Given the description of an element on the screen output the (x, y) to click on. 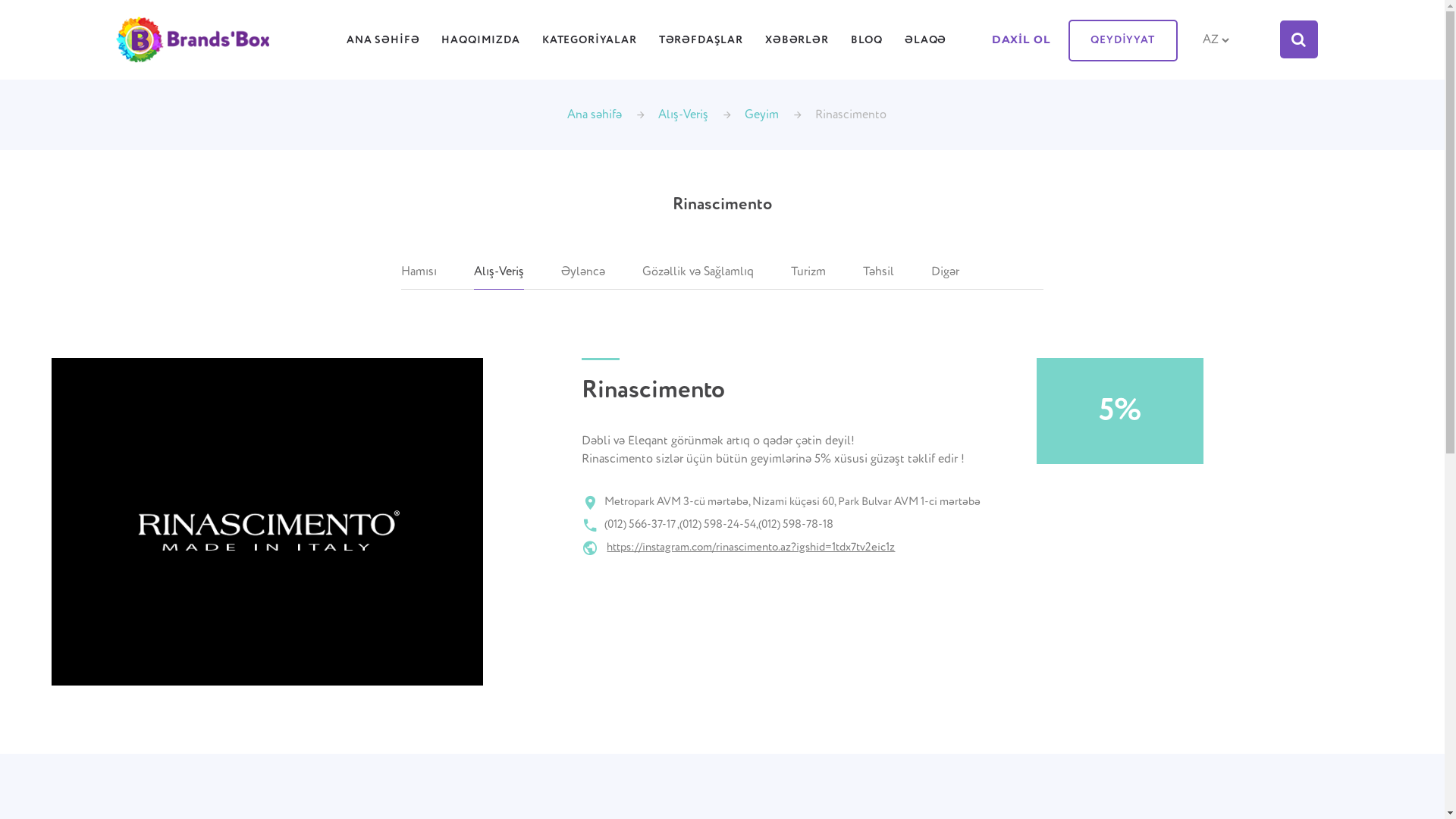
HAQQIMIZDA Element type: text (480, 44)
(012) 566-37-17 ,(012) 598-24-54,(012) 598-78-18 Element type: text (707, 524)
BLOQ Element type: text (866, 44)
KATEGORIYALAR Element type: text (589, 44)
QEYDIYYAT Element type: text (1121, 40)
Geyim Element type: text (761, 115)
https://instagram.com/rinascimento.az?igshid=1tdx7tv2eic1z Element type: text (750, 546)
Turizm Element type: text (807, 272)
DAXIL OL Element type: text (1020, 42)
